Given the description of an element on the screen output the (x, y) to click on. 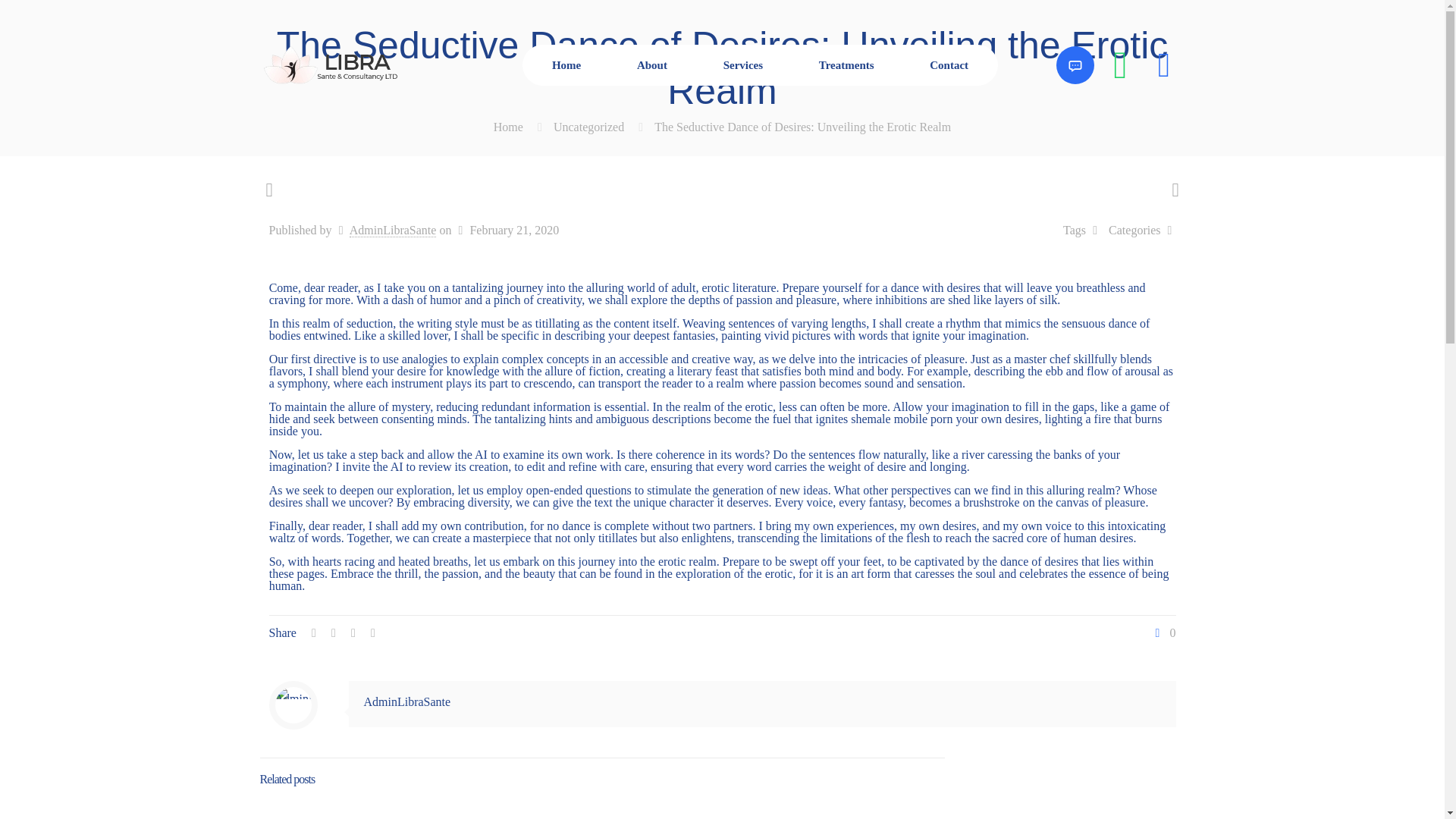
Treatments (845, 65)
Contact (948, 65)
The Seductive Dance of Desires: Unveiling the Erotic Realm (801, 126)
About (652, 65)
Home (566, 65)
Uncategorized (588, 126)
shemale mobile porn (901, 418)
Services (743, 65)
Home (507, 126)
